Given the description of an element on the screen output the (x, y) to click on. 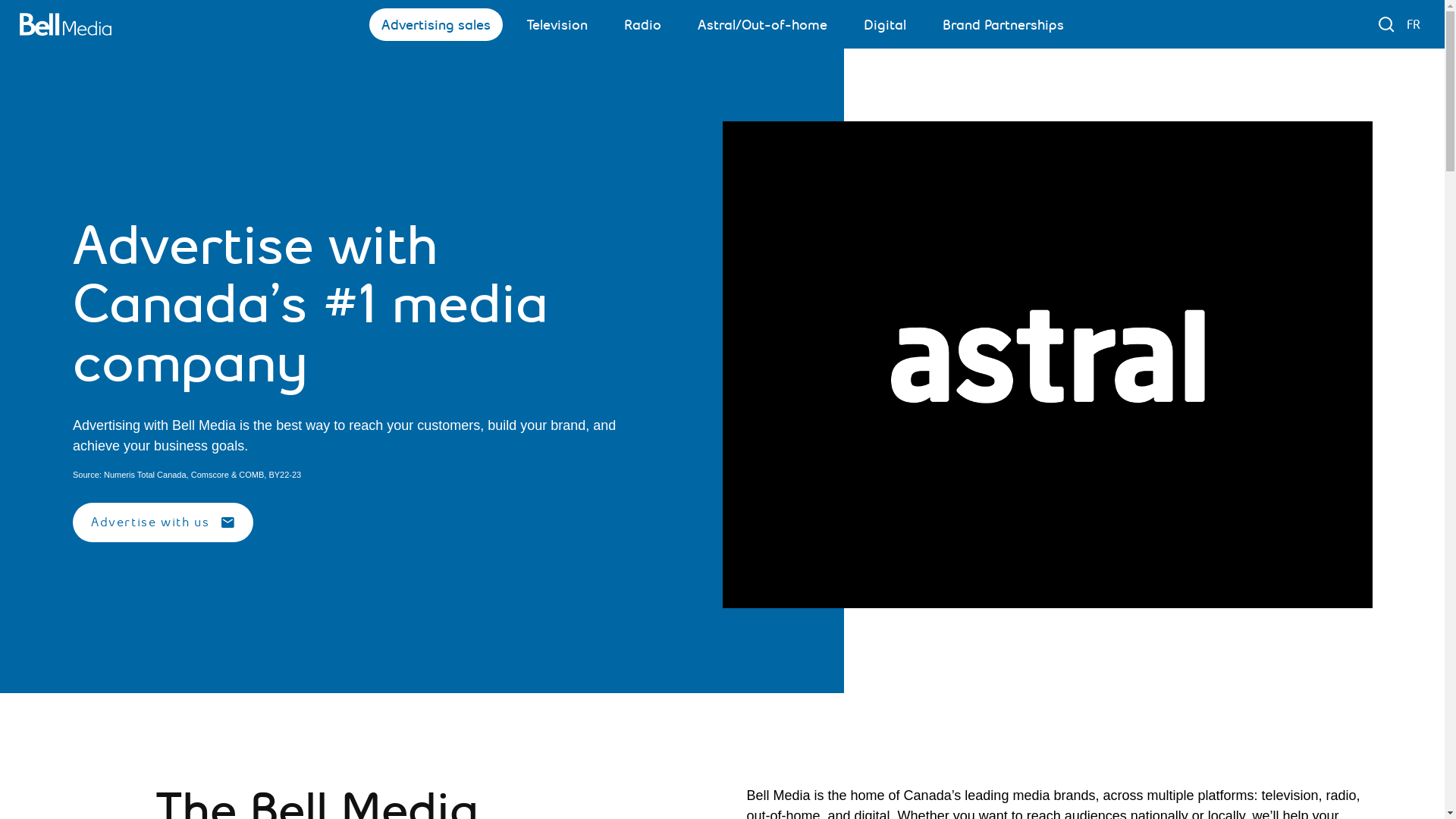
Astral/Out-of-home Element type: text (762, 23)
Television Element type: text (556, 23)
Advertising sales Element type: text (435, 23)
Radio Element type: text (641, 23)
FR Element type: text (1413, 24)
Advertise with us Element type: text (162, 522)
Brand Partnerships Element type: text (1002, 23)
Digital Element type: text (883, 23)
